Given the description of an element on the screen output the (x, y) to click on. 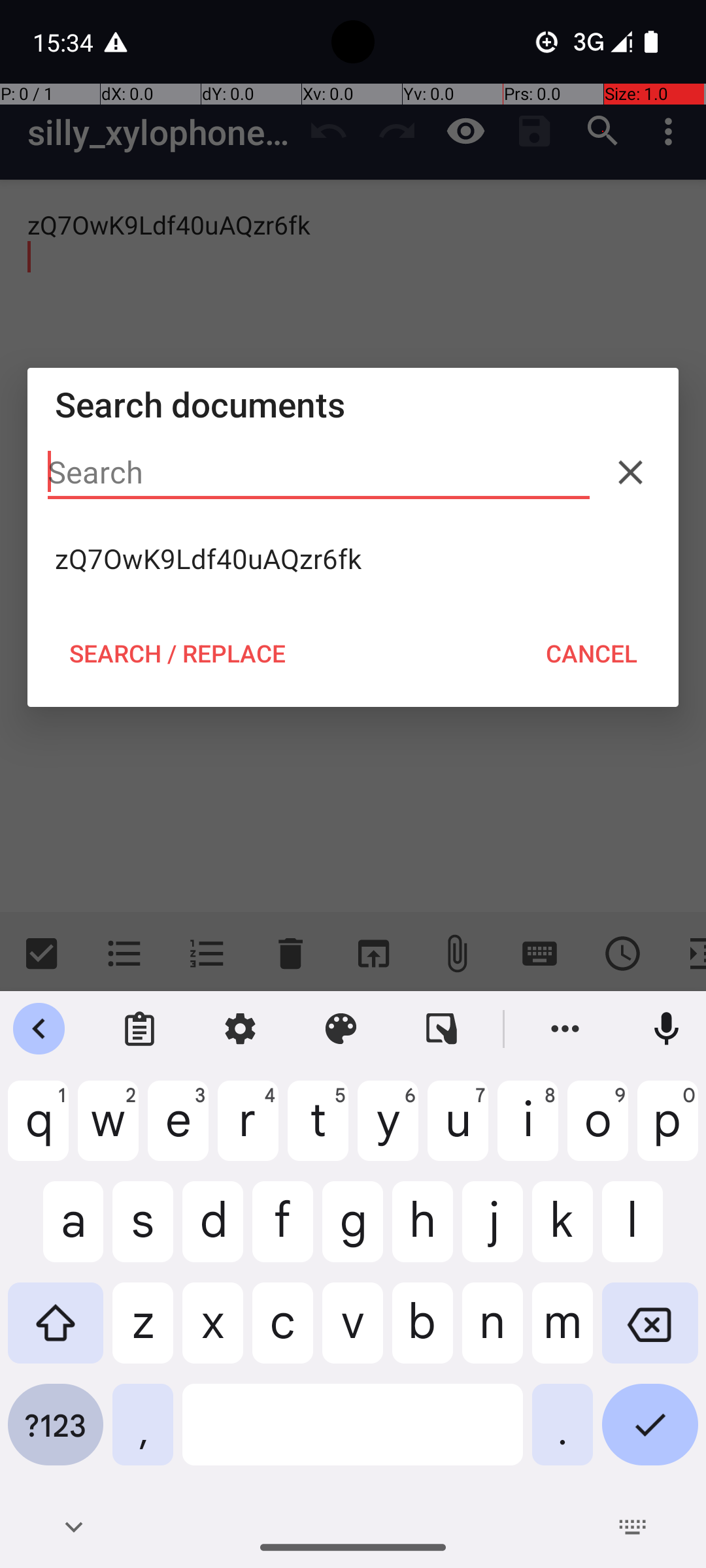
Search documents Element type: android.widget.TextView (352, 403)
zQ7OwK9Ldf40uAQzr6fk Element type: android.widget.TextView (352, 558)
SEARCH / REPLACE Element type: android.widget.Button (176, 652)
Theme settings Element type: android.widget.FrameLayout (340, 1028)
One handed mode Element type: android.widget.FrameLayout (441, 1028)
Done Element type: android.widget.FrameLayout (649, 1434)
